Given the description of an element on the screen output the (x, y) to click on. 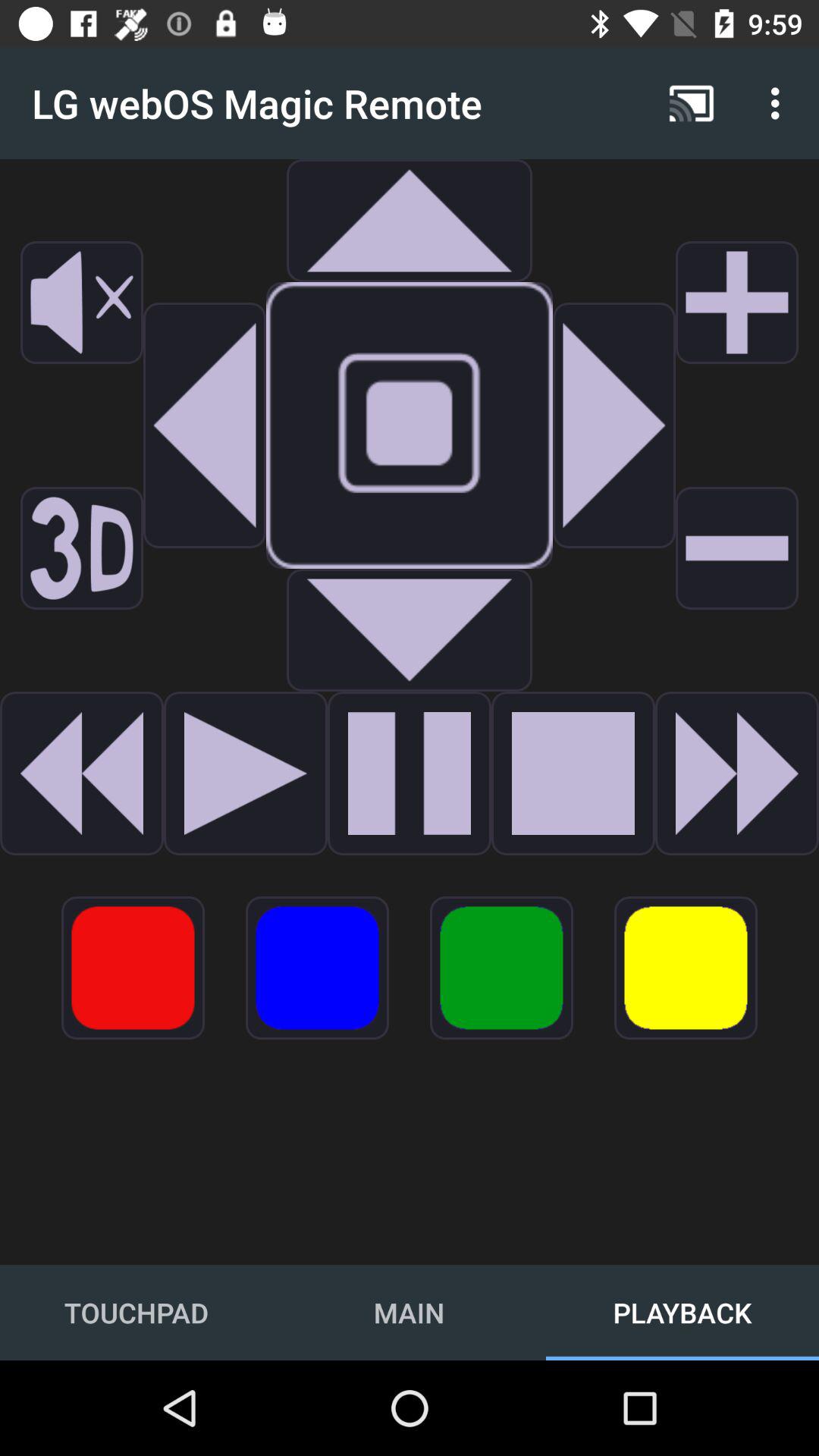
down option (409, 629)
